Given the description of an element on the screen output the (x, y) to click on. 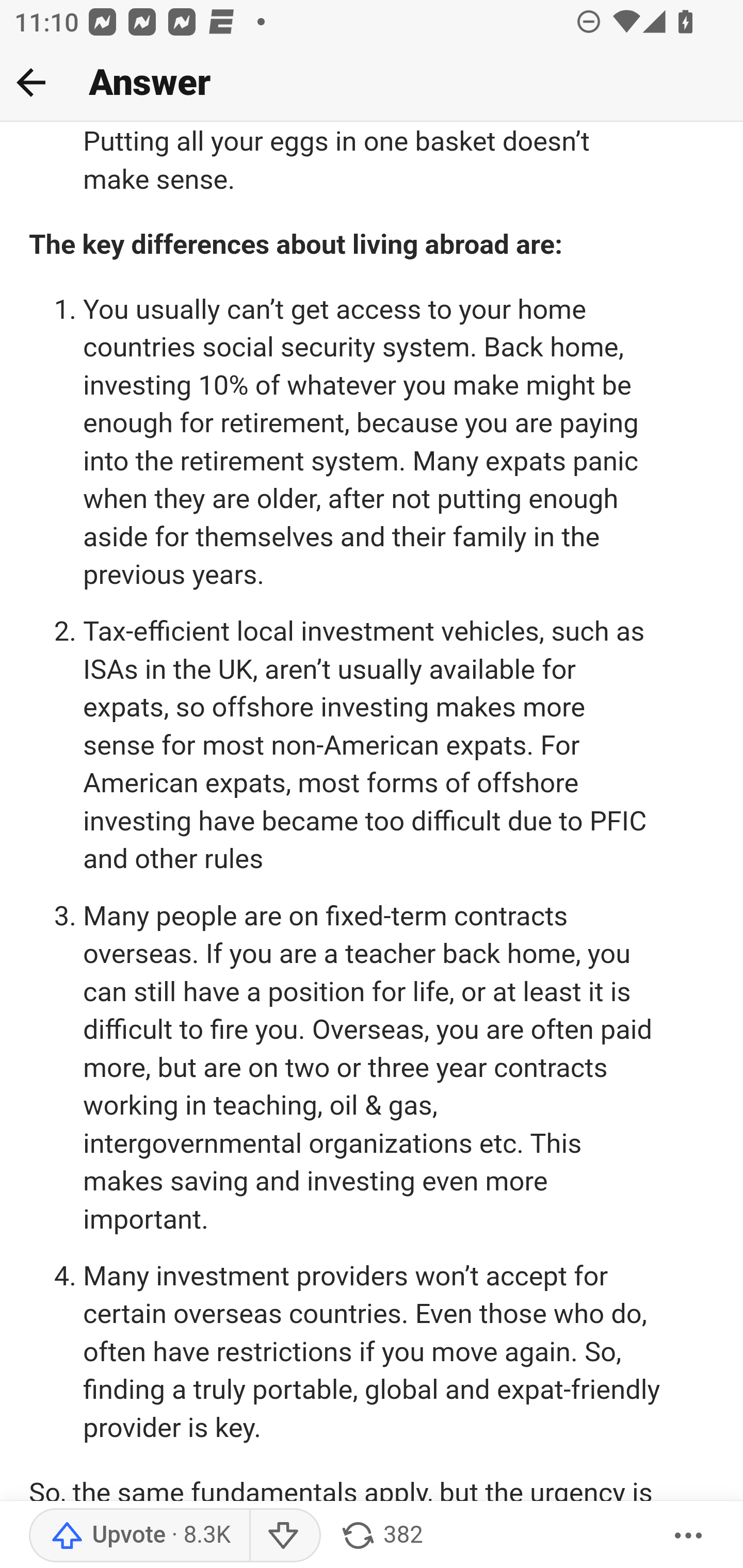
Back (30, 82)
Upvote (138, 1535)
Downvote (283, 1535)
382 shares (380, 1535)
More (688, 1535)
